Given the description of an element on the screen output the (x, y) to click on. 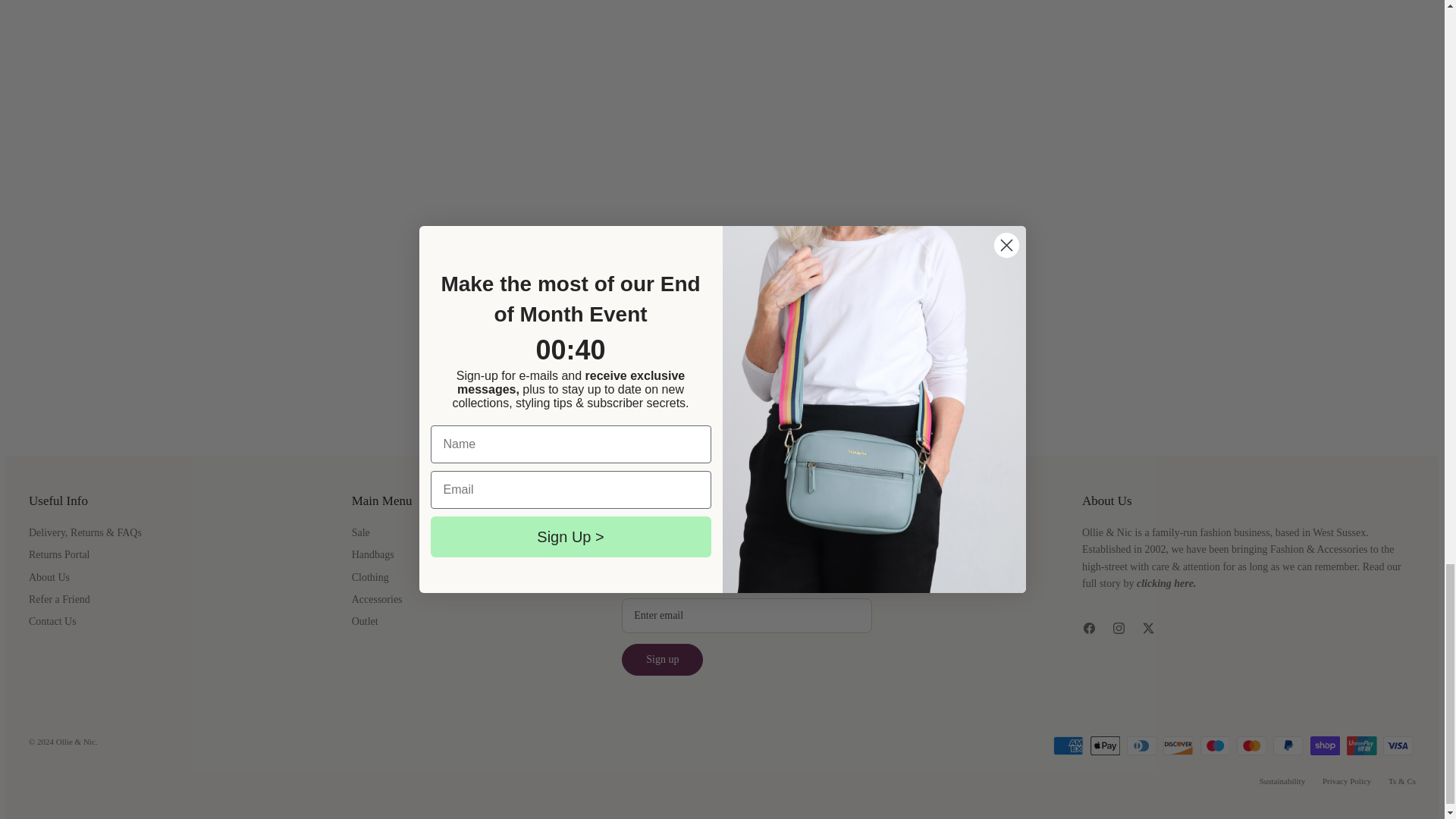
Apple Pay (1105, 745)
About Us (1166, 583)
American Express (1067, 745)
PayPal (1287, 745)
Mastercard (1251, 745)
Union Pay (1361, 745)
Diners Club (1141, 745)
Instagram (1118, 627)
Discover (1178, 745)
Maestro (1214, 745)
Shop Pay (1325, 745)
Visa (1398, 745)
